Given the description of an element on the screen output the (x, y) to click on. 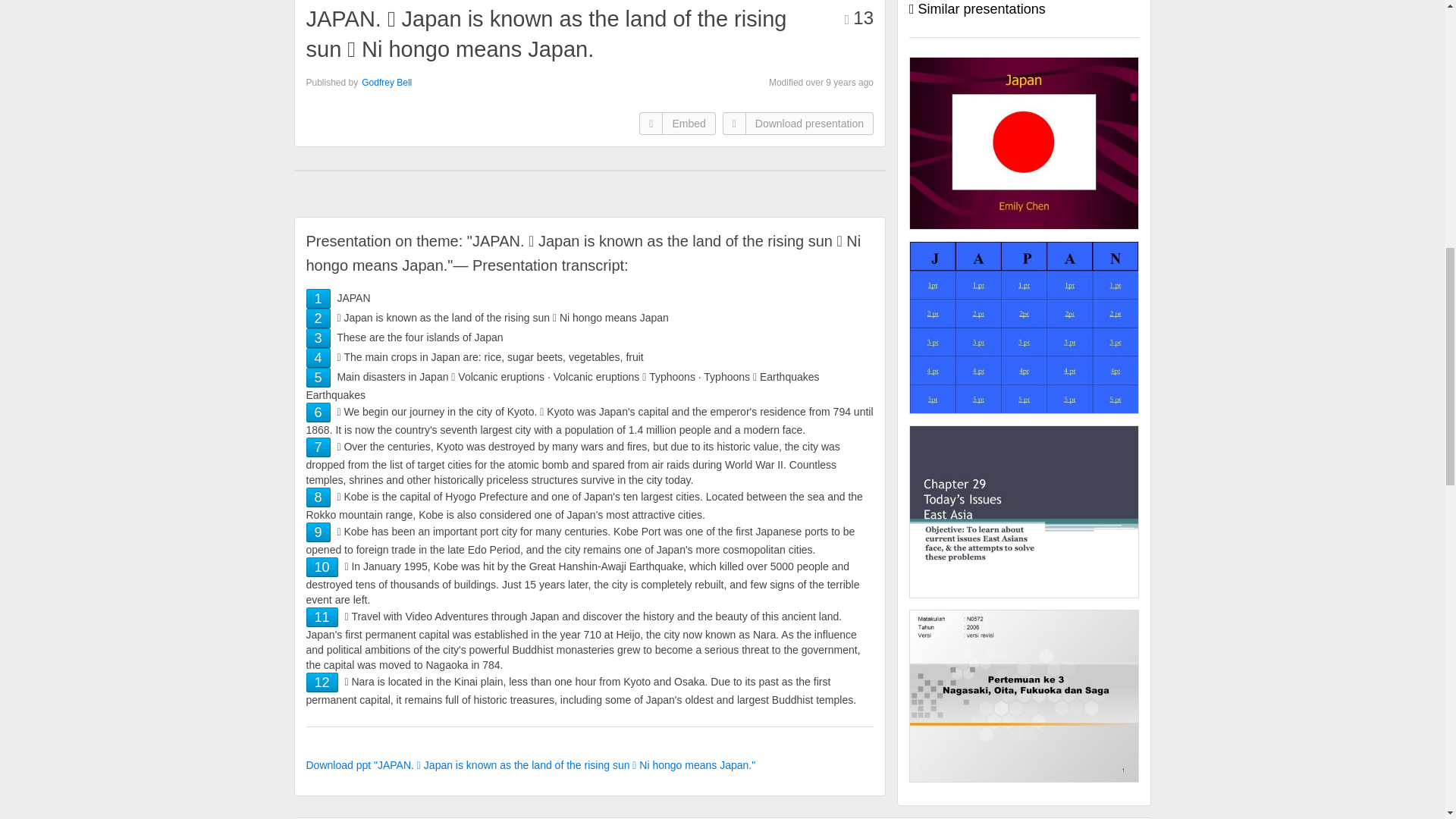
Godfrey Bell (386, 81)
